Given the description of an element on the screen output the (x, y) to click on. 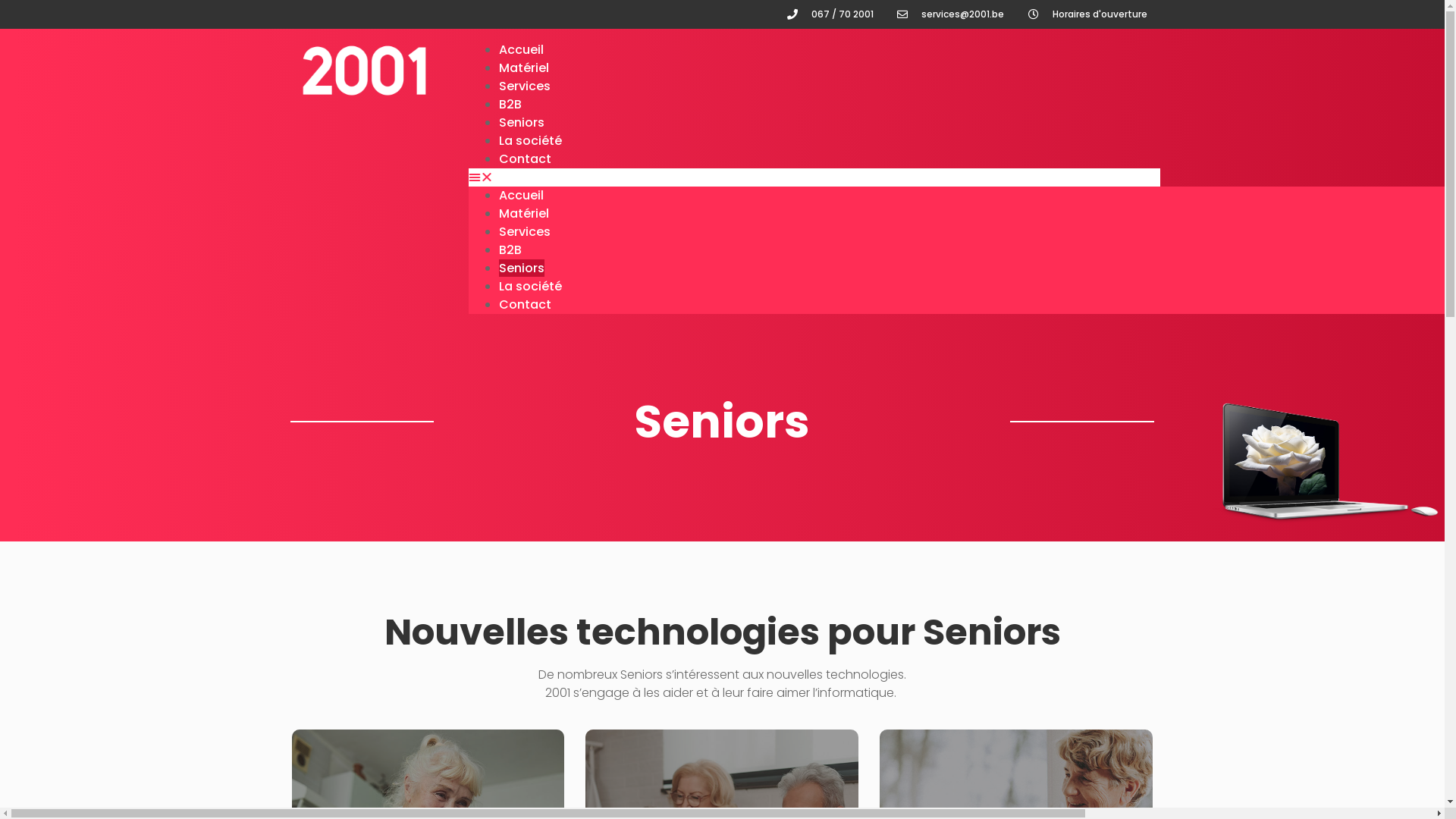
Seniors Element type: text (521, 267)
Contact Element type: text (524, 304)
067 / 70 2001 Element type: text (828, 14)
Accueil Element type: text (520, 194)
B2B Element type: text (509, 103)
B2B Element type: text (509, 249)
Accueil Element type: text (520, 49)
Contact Element type: text (524, 158)
Services Element type: text (524, 85)
Horaires d'ouverture Element type: text (1086, 14)
Seniors Element type: text (521, 122)
Services Element type: text (524, 231)
services@2001.be Element type: text (949, 14)
